Given the description of an element on the screen output the (x, y) to click on. 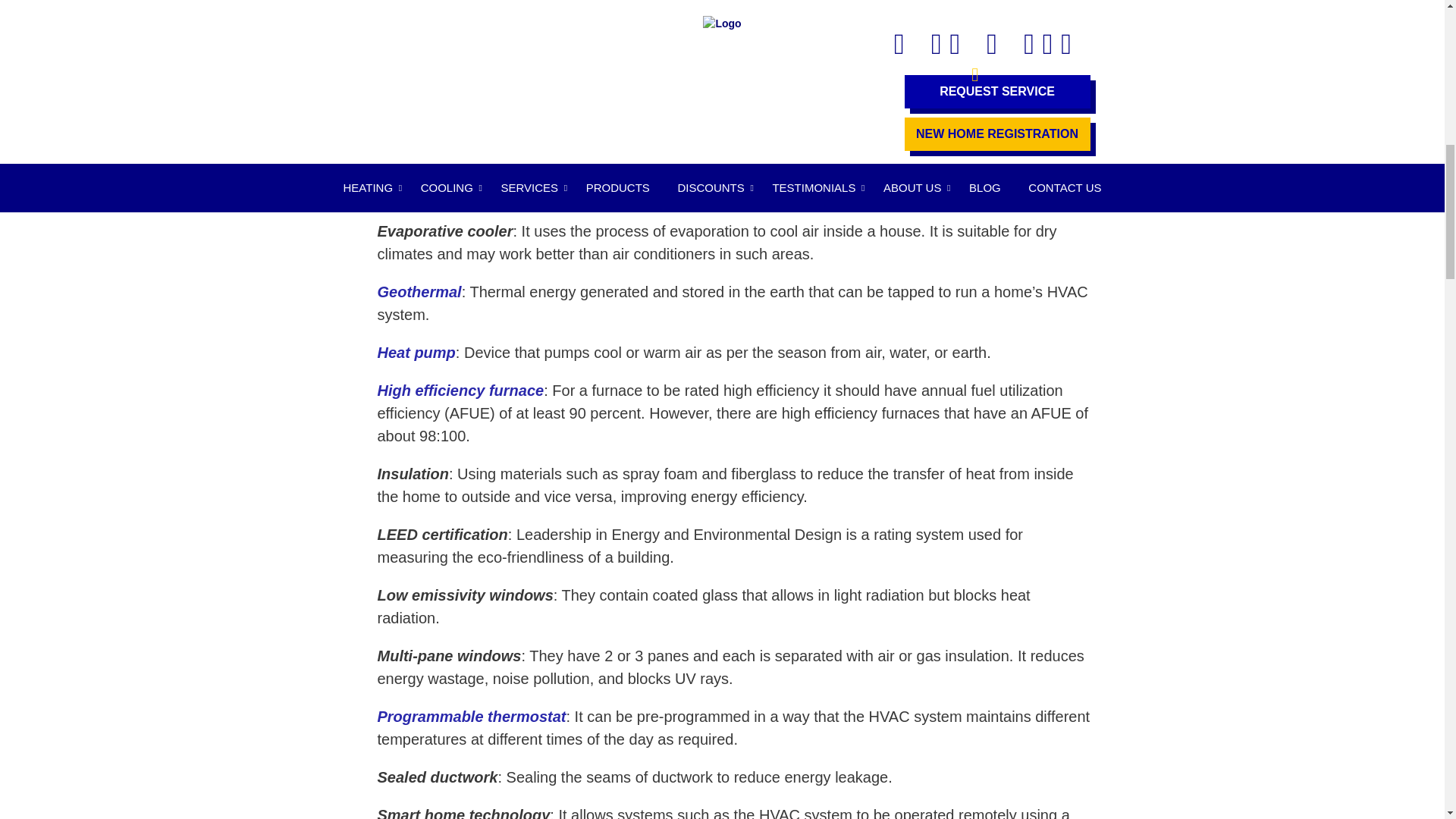
geothermal (419, 291)
programmable thermostat (471, 716)
